Given the description of an element on the screen output the (x, y) to click on. 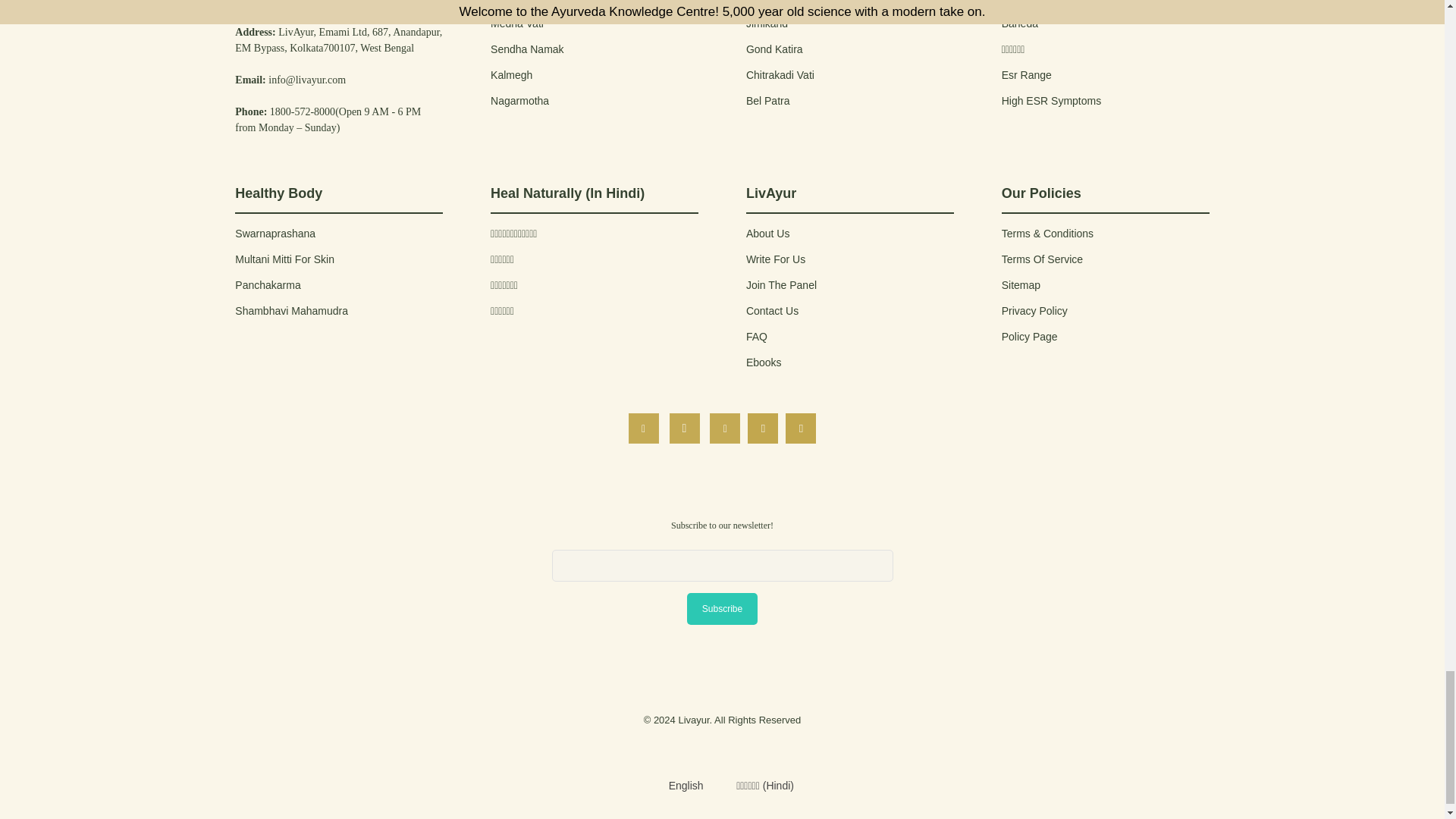
Subscribe (722, 608)
